Given the description of an element on the screen output the (x, y) to click on. 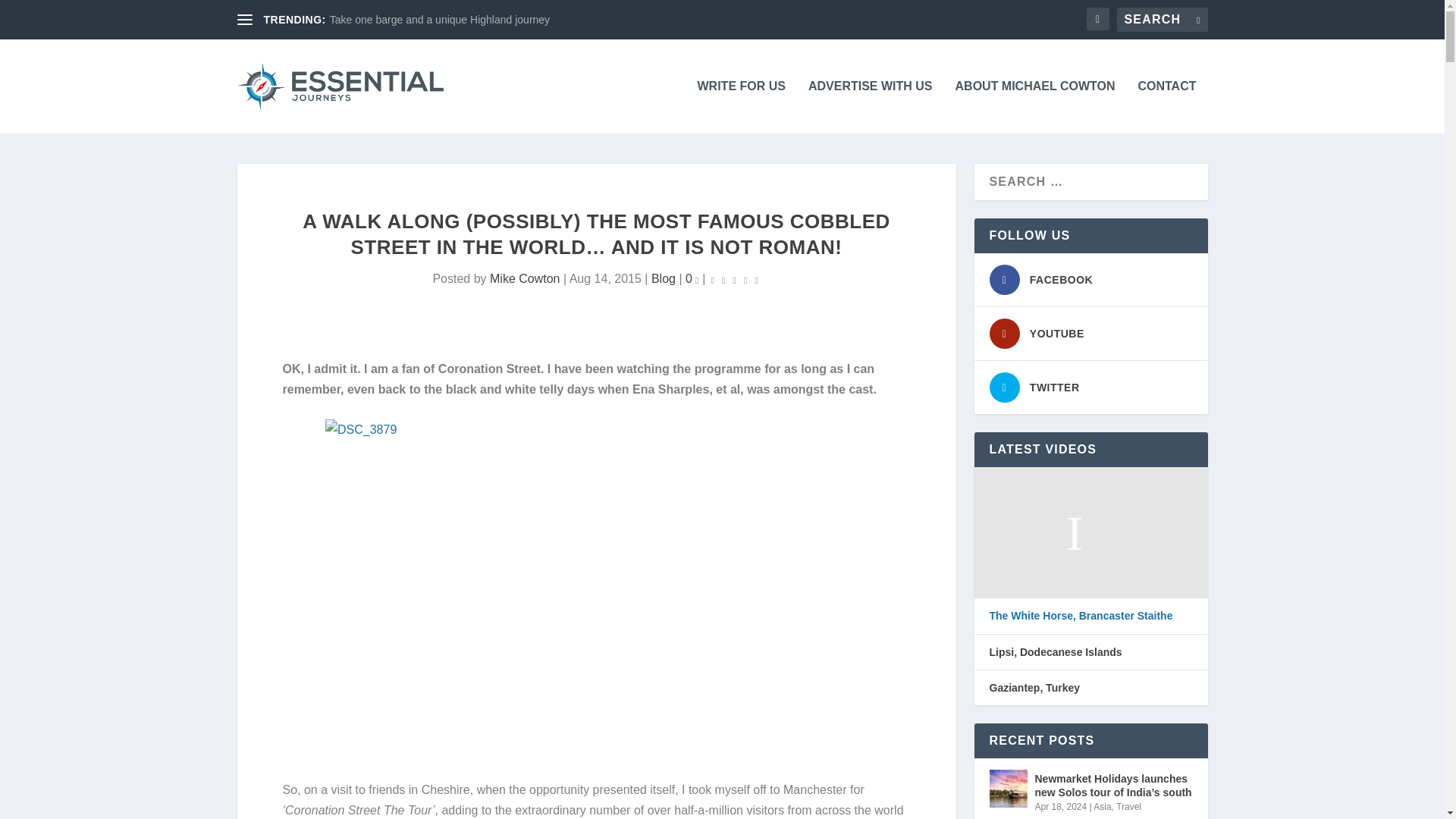
WRITE FOR US (741, 106)
Mike Cowton (524, 278)
Posts by Mike Cowton (524, 278)
ADVERTISE WITH US (870, 106)
Take one barge and a unique Highland journey (440, 19)
Blog (662, 278)
CONTACT (1166, 106)
ABOUT MICHAEL COWTON (1035, 106)
Search for: (1161, 19)
0 (691, 278)
write-for-us (741, 106)
meet-michael-cowton (1035, 106)
advertise-with-us (870, 106)
Rating: 0.00 (734, 279)
